Given the description of an element on the screen output the (x, y) to click on. 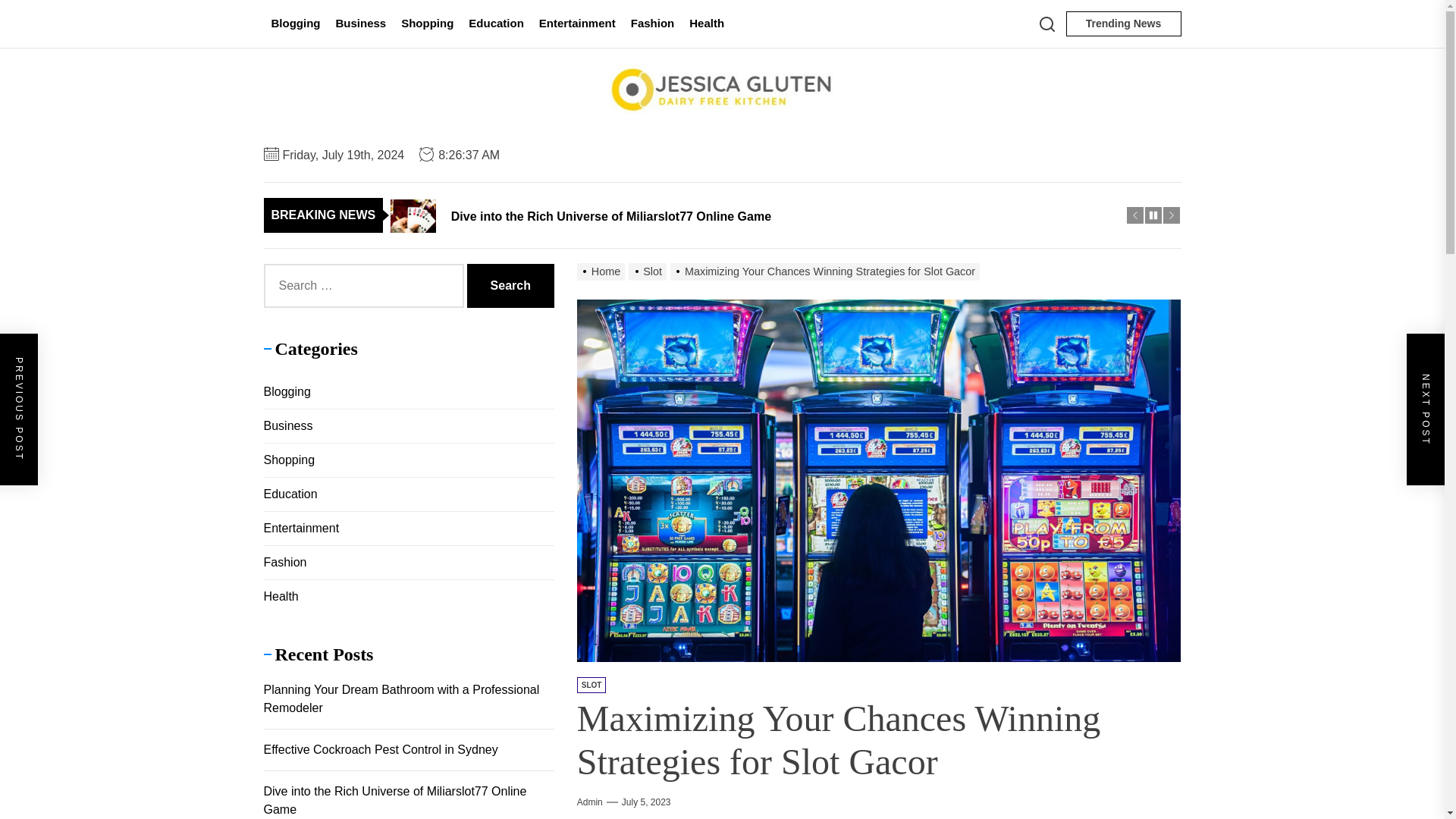
Shopping (427, 23)
Search (510, 285)
Dive into the Rich Universe of Miliarslot77 Online Game (758, 216)
Trending News (1122, 23)
Health (706, 23)
Blogging (296, 23)
Fashion (652, 23)
Education (496, 23)
Effective Cockroach Pest Control in Sydney (758, 180)
Business (360, 23)
Search (510, 285)
Entertainment (577, 23)
